Given the description of an element on the screen output the (x, y) to click on. 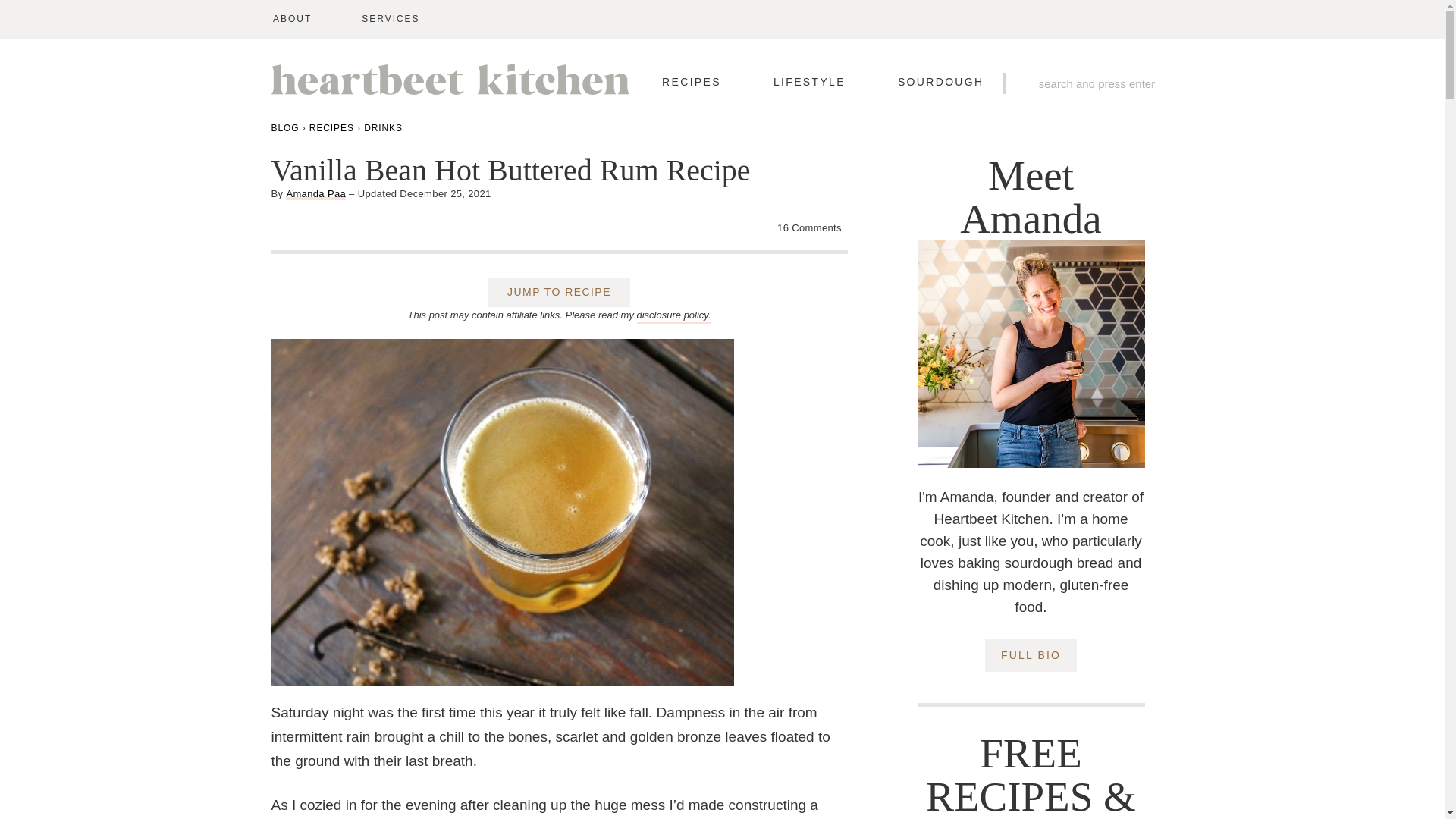
SERVICES (390, 18)
ABOUT (292, 18)
LIFESTYLE (809, 81)
SOURDOUGH (941, 81)
RECIPES (691, 81)
